Given the description of an element on the screen output the (x, y) to click on. 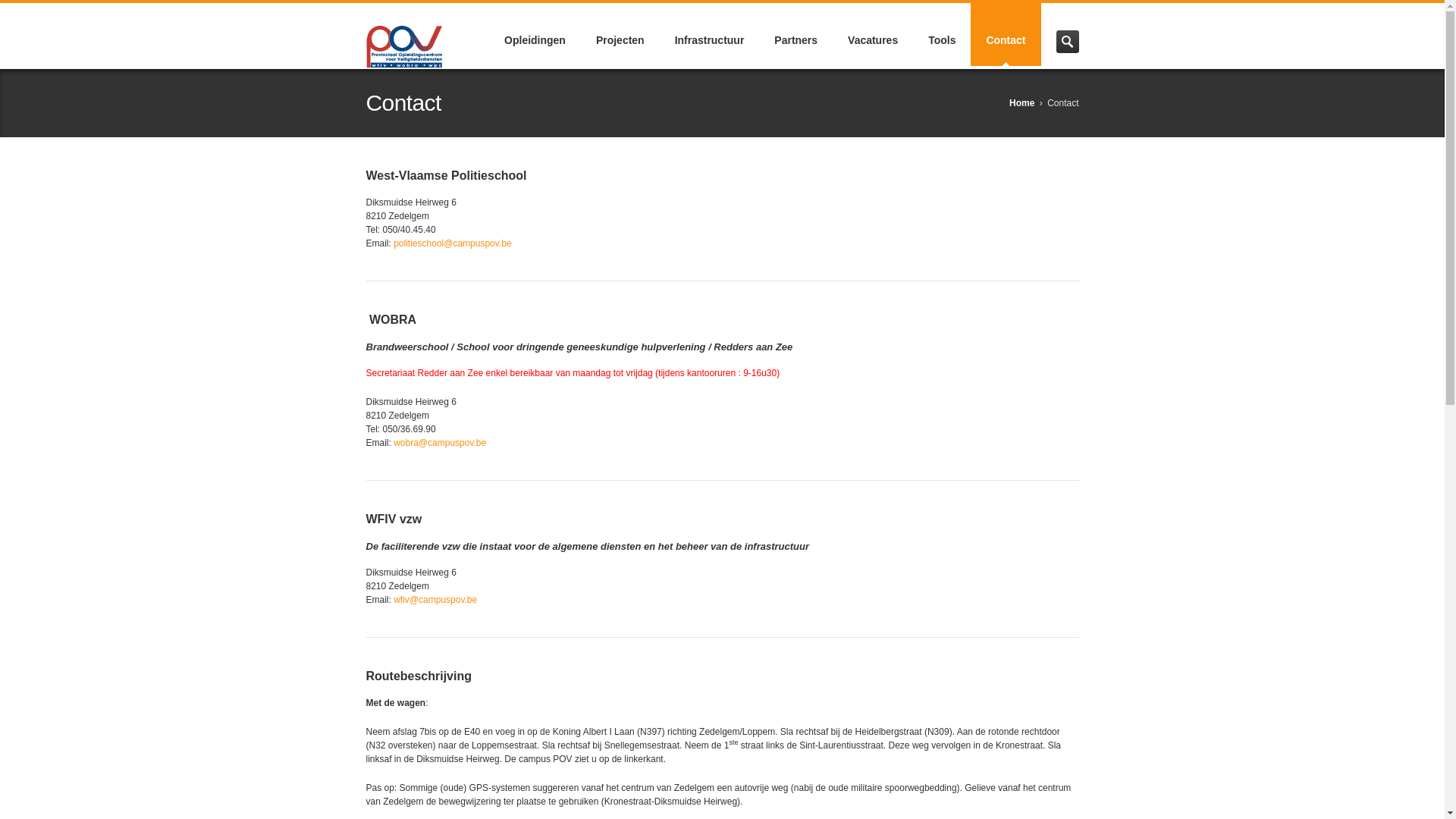
Vacatures Element type: text (872, 34)
Projecten Element type: text (619, 34)
wfiv@campuspov.be Element type: text (434, 599)
Search Element type: text (1066, 41)
wobra@campuspov.be Element type: text (439, 442)
Opleidingen Element type: text (534, 34)
politieschool@campuspov.be Element type: text (452, 243)
Home Element type: text (1021, 102)
Tools Element type: text (941, 34)
Partners Element type: text (795, 34)
Infrastructuur Element type: text (709, 34)
Contact Element type: text (1005, 34)
